Given the description of an element on the screen output the (x, y) to click on. 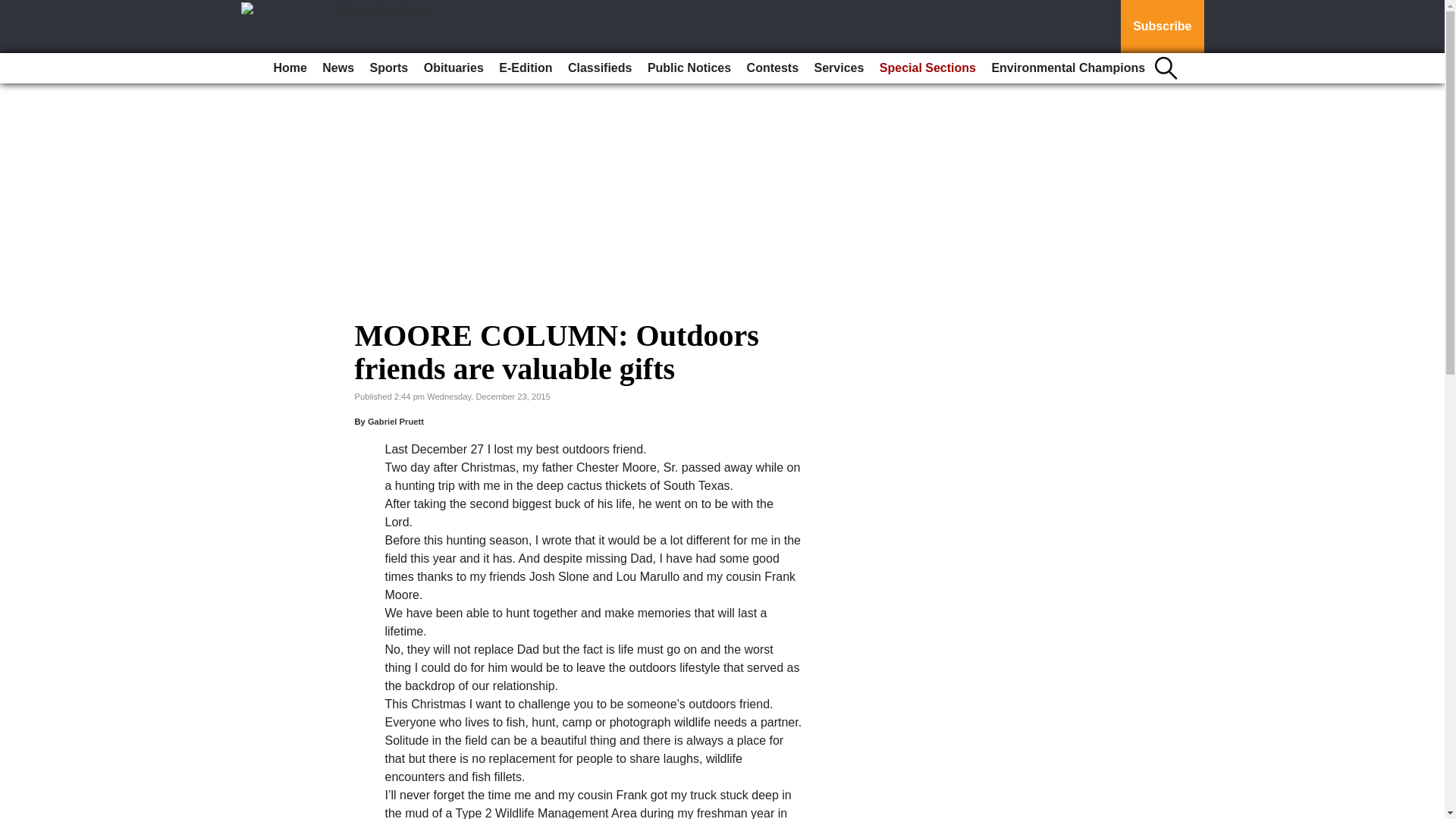
Gabriel Pruett (395, 420)
Go (13, 9)
Sports (389, 68)
E-Edition (525, 68)
Environmental Champions (1068, 68)
Contests (773, 68)
News (337, 68)
Special Sections (927, 68)
Services (839, 68)
Subscribe (1162, 26)
Public Notices (689, 68)
Obituaries (453, 68)
Home (289, 68)
Classifieds (599, 68)
